Given the description of an element on the screen output the (x, y) to click on. 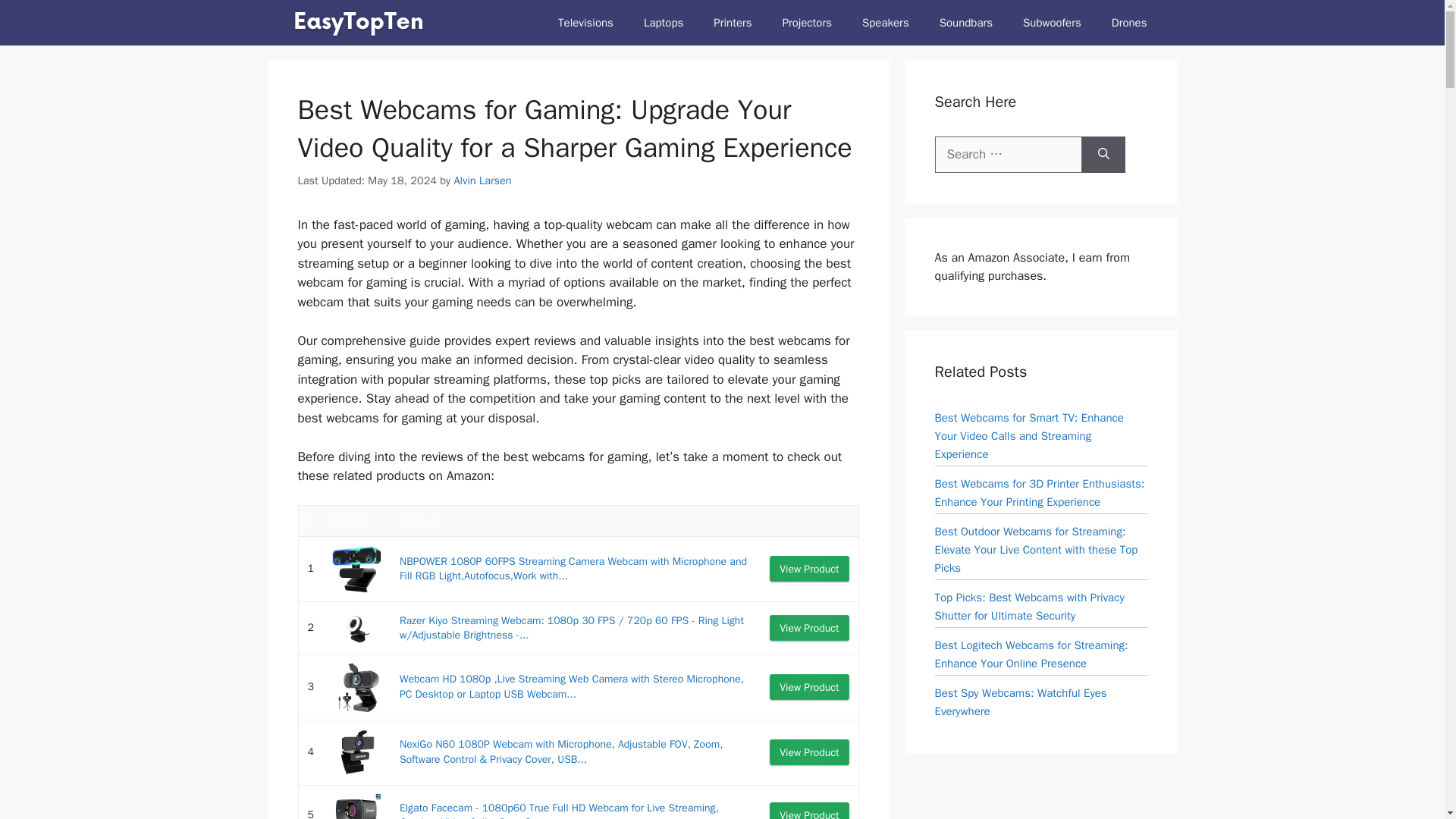
View all posts by Alvin Larsen (481, 180)
Subwoofers (1051, 22)
Speakers (885, 22)
EasyTopTen (357, 22)
Alvin Larsen (481, 180)
Soundbars (965, 22)
View Product (809, 627)
Televisions (585, 22)
Laptops (663, 22)
View Product (809, 687)
